Given the description of an element on the screen output the (x, y) to click on. 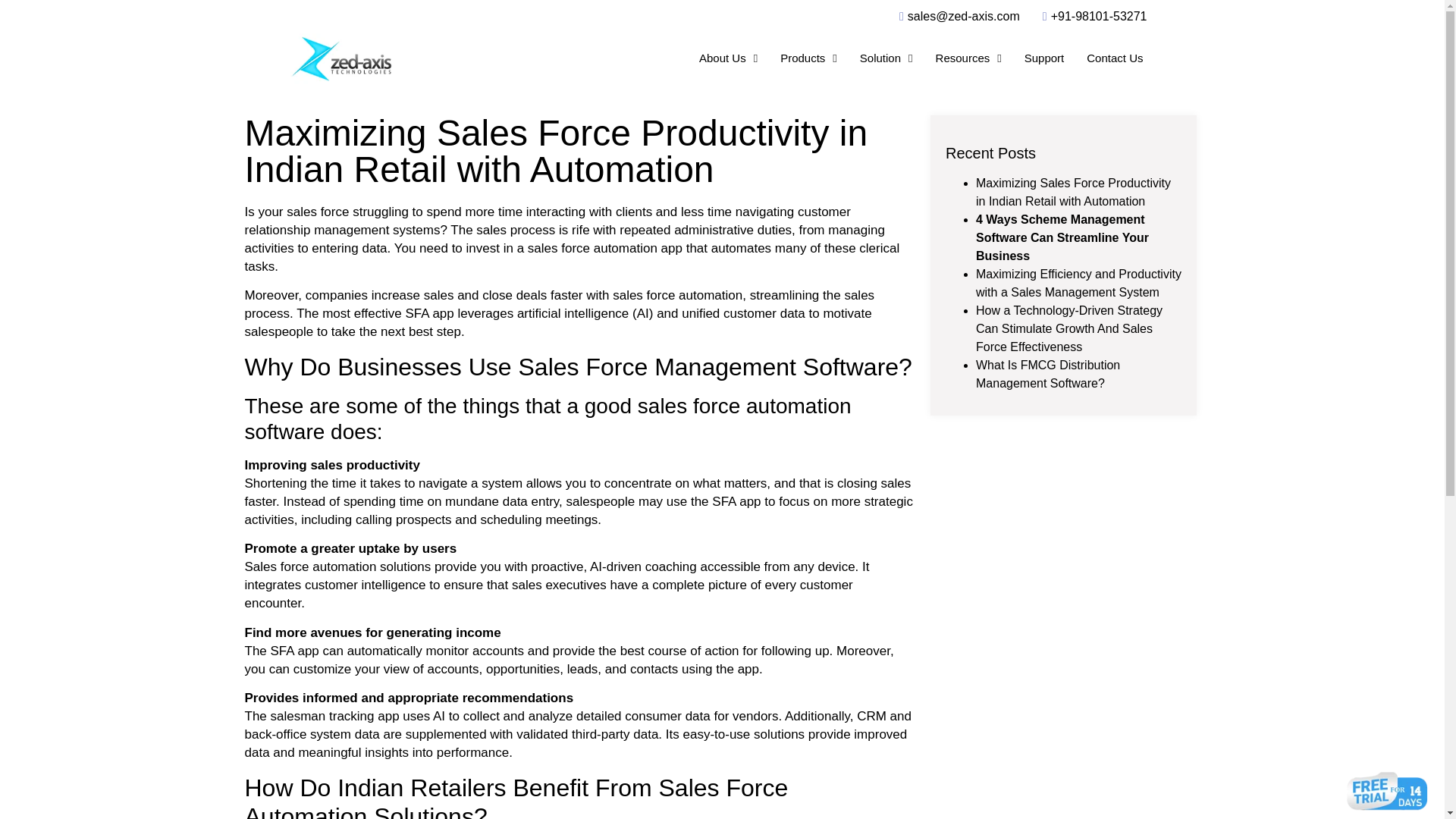
Contact Us (1114, 58)
Products (808, 58)
About Us (727, 58)
Resources (968, 58)
Support (1044, 58)
Solution (886, 58)
